Given the description of an element on the screen output the (x, y) to click on. 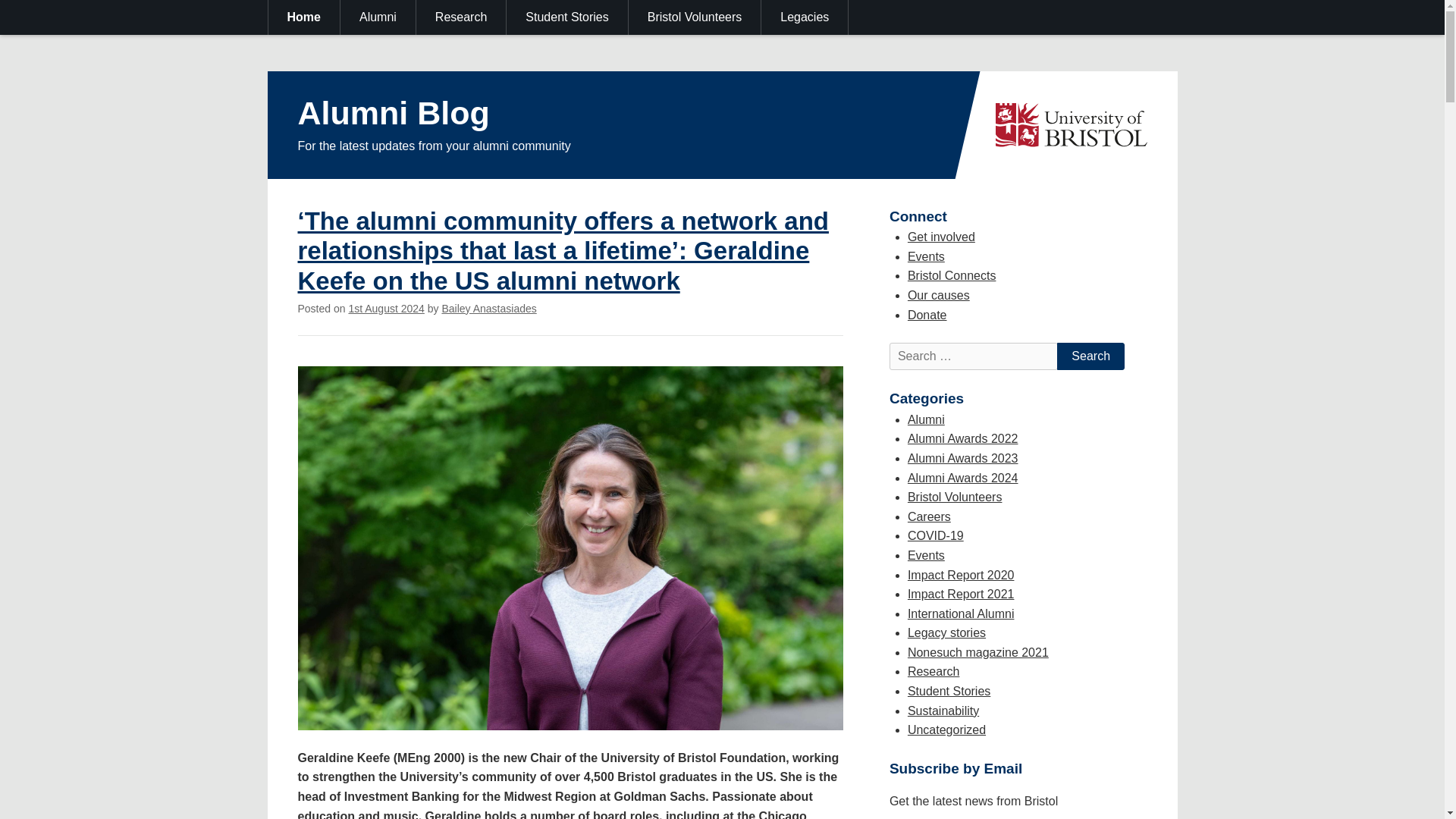
Search (1090, 356)
1st August 2024 (385, 308)
Search (1090, 356)
Student Stories (566, 17)
Home (303, 17)
Alumni Blog (393, 113)
Alumni (378, 17)
Research (461, 17)
Legacies (804, 17)
Bailey Anastasiades (488, 308)
